Given the description of an element on the screen output the (x, y) to click on. 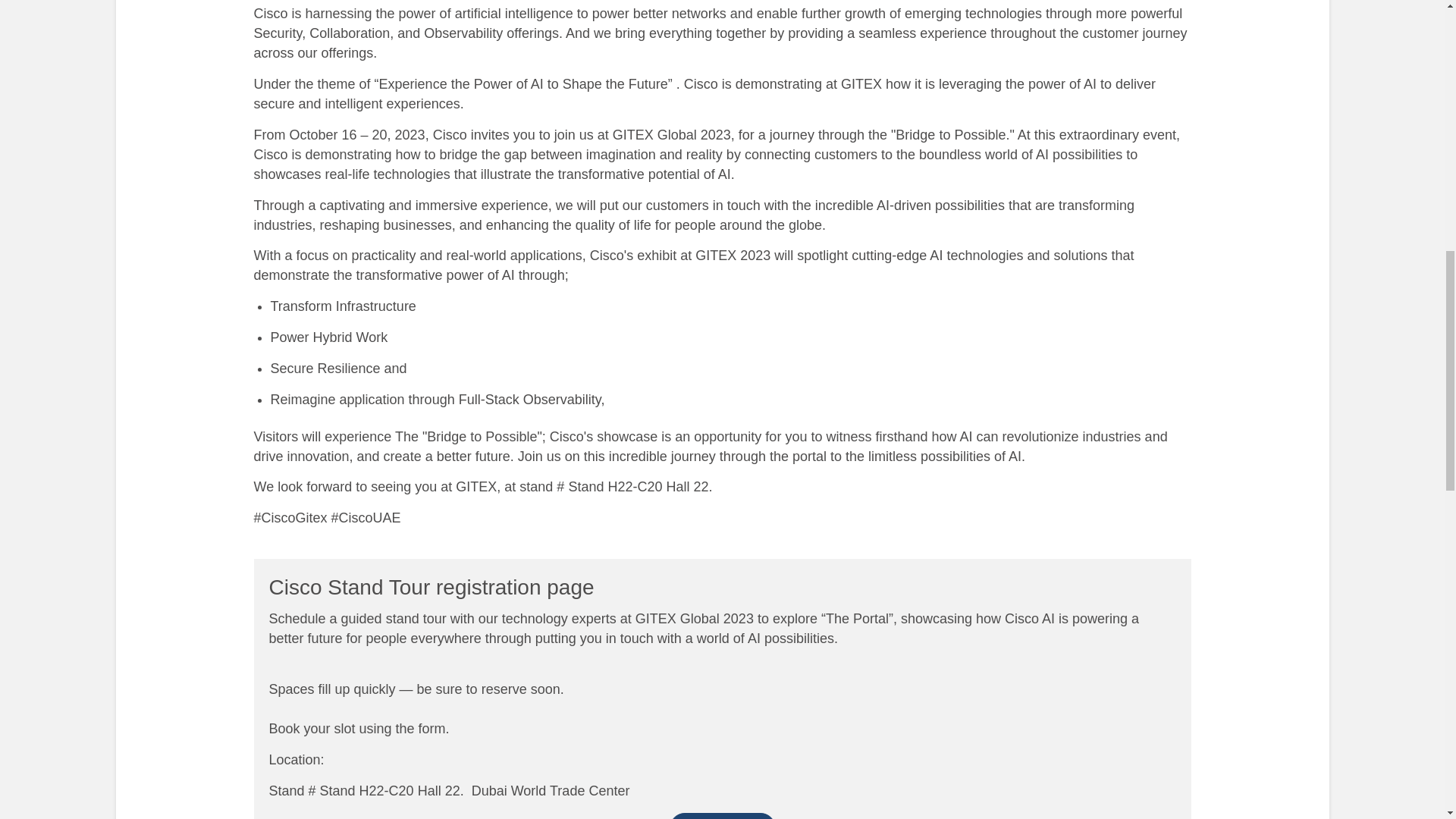
Book Now (721, 816)
